Given the description of an element on the screen output the (x, y) to click on. 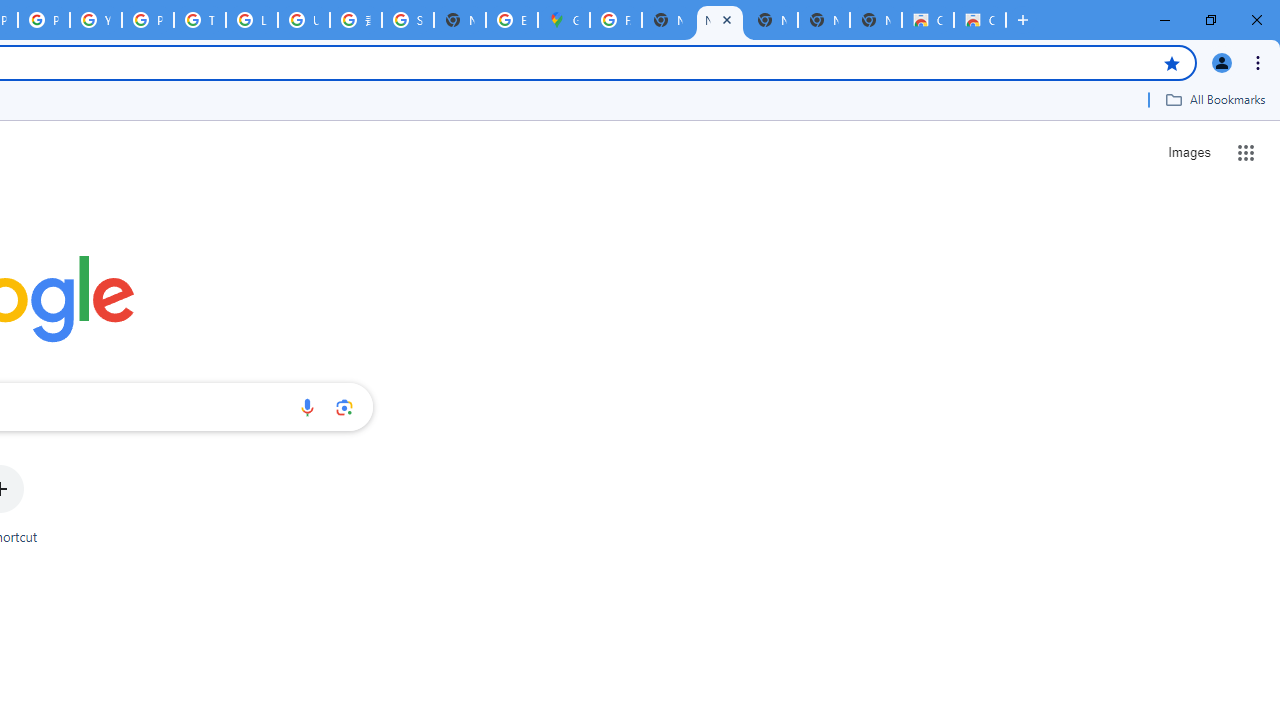
YouTube (95, 20)
Chrome (1260, 62)
Search for Images  (1188, 152)
Classic Blue - Chrome Web Store (927, 20)
Minimize (1165, 20)
New Tab (1022, 20)
Restore (1210, 20)
Classic Blue - Chrome Web Store (979, 20)
New Tab (875, 20)
Google apps (1245, 152)
Sign in - Google Accounts (407, 20)
Close (726, 19)
